Given the description of an element on the screen output the (x, y) to click on. 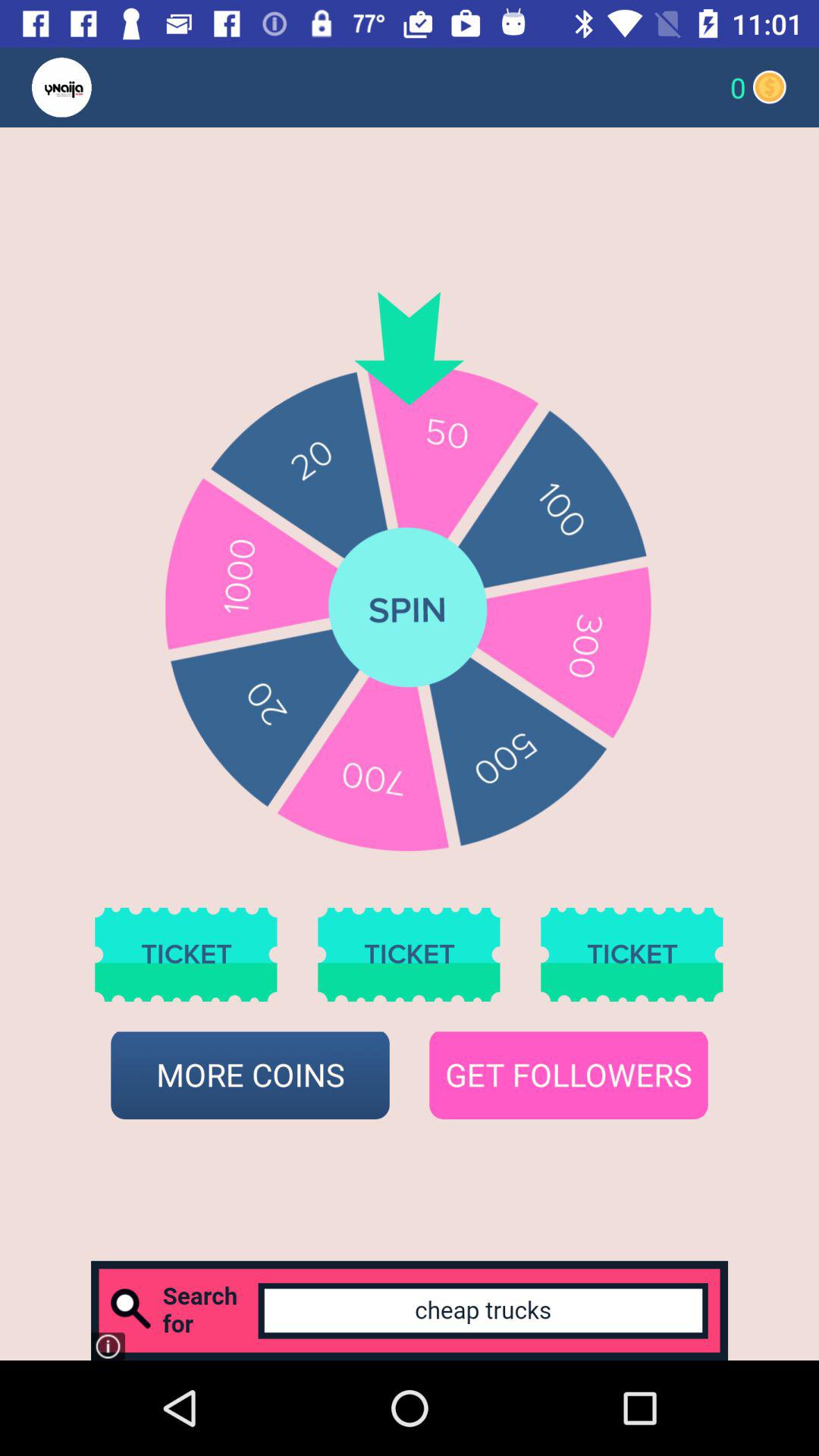
select icon next to the 20  icon (91, 87)
